Given the description of an element on the screen output the (x, y) to click on. 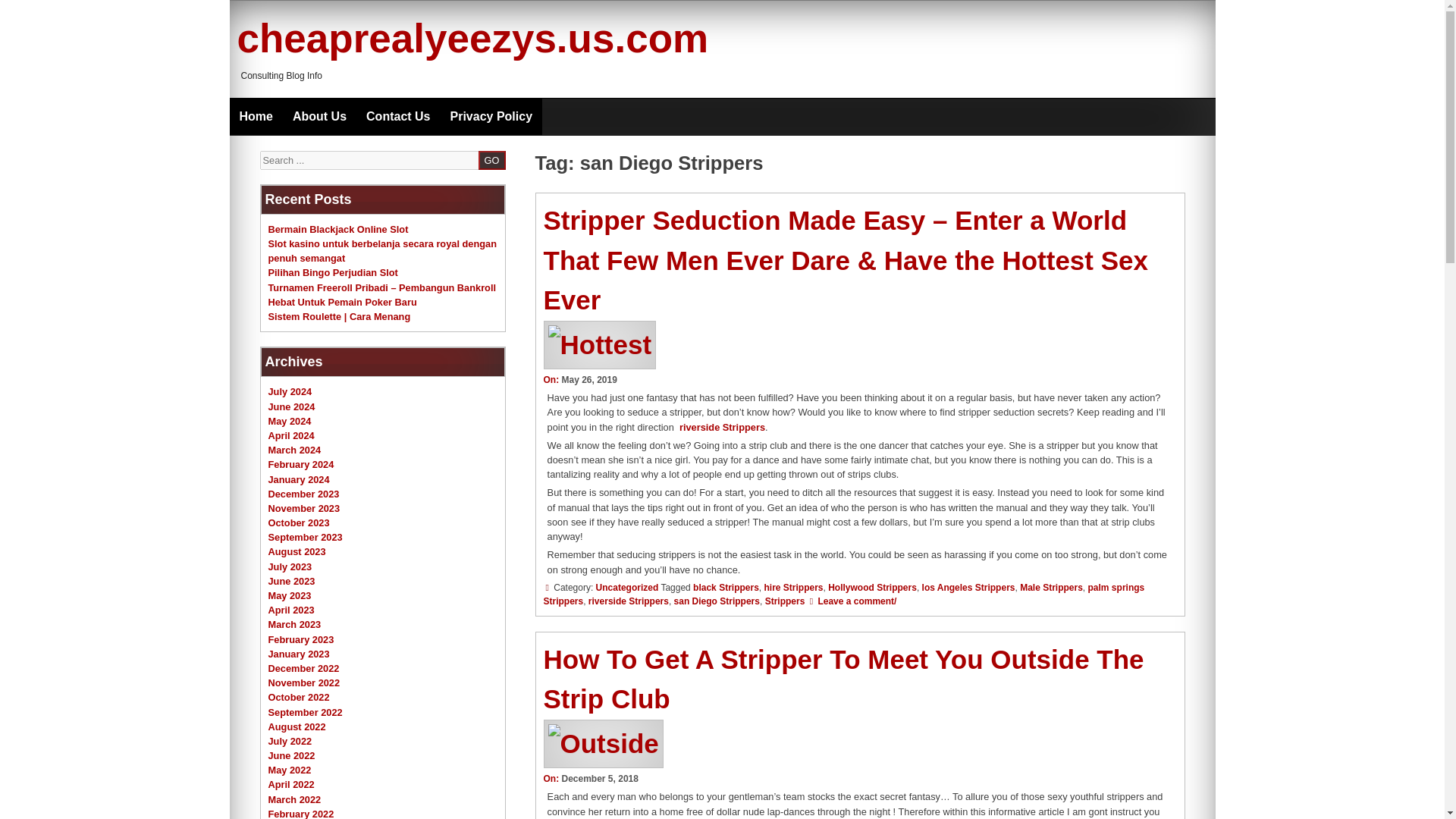
Uncategorized (627, 587)
riverside Strippers (722, 427)
GO (492, 158)
Hollywood Strippers (872, 587)
Strippers (785, 601)
Male Strippers (1051, 587)
Privacy Policy (492, 116)
How To Get A Stripper To Meet You Outside The Strip Club (842, 679)
GO (492, 158)
December 5, 2018 (598, 778)
Home (255, 116)
About Us (319, 116)
Contact Us (397, 116)
san Diego Strippers (717, 601)
May 26, 2019 (587, 379)
